Given the description of an element on the screen output the (x, y) to click on. 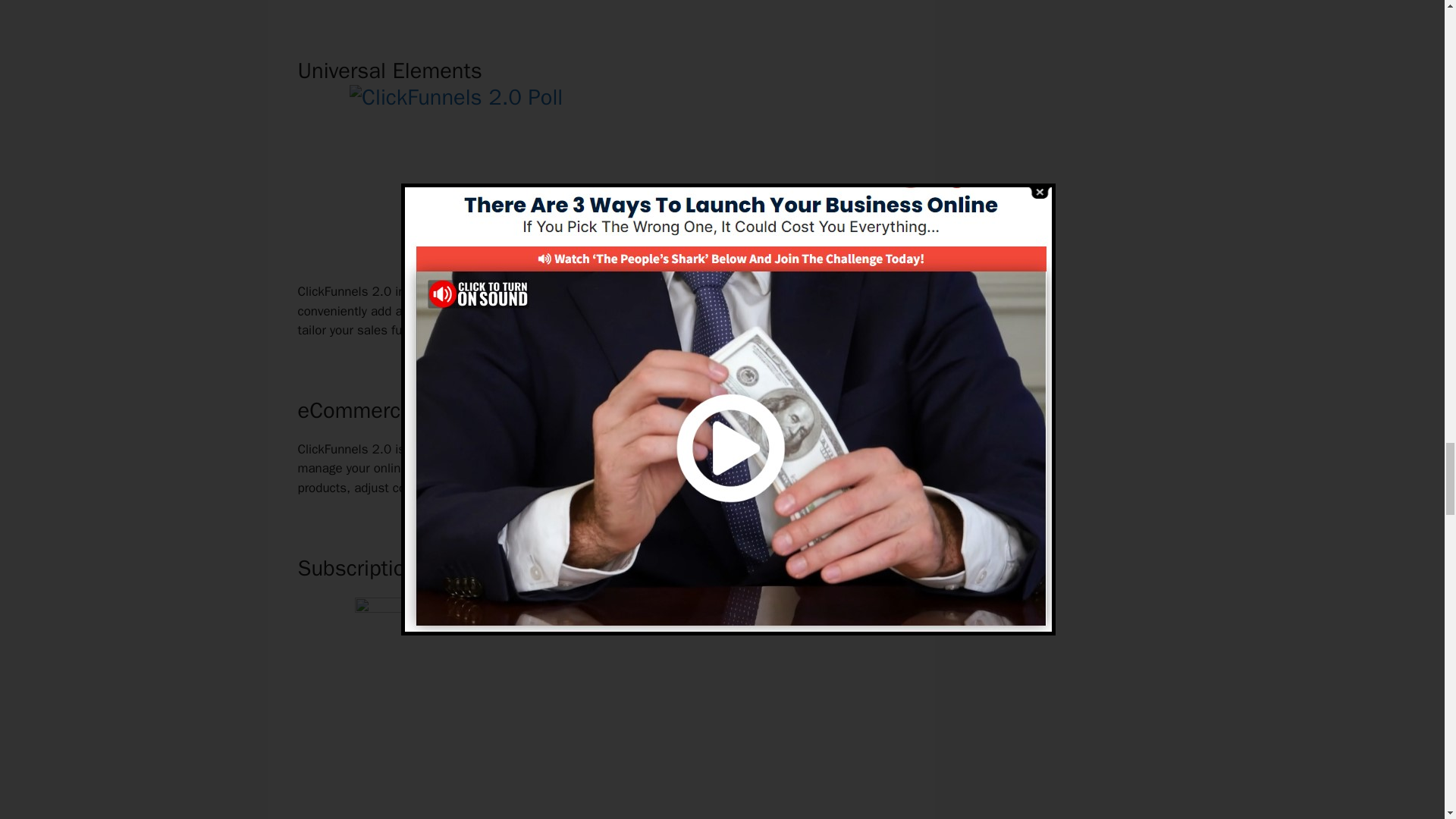
eCommerce (530, 467)
